Given the description of an element on the screen output the (x, y) to click on. 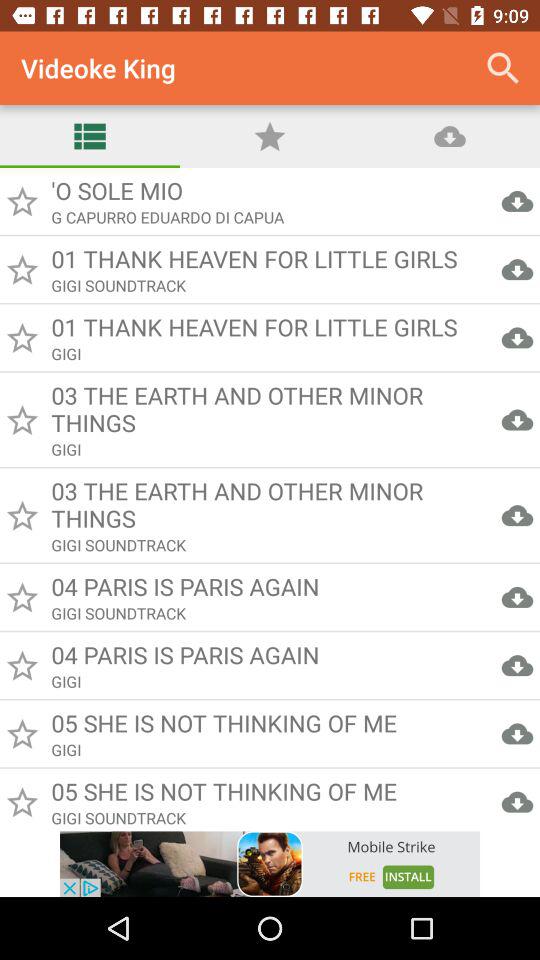
available files to download (270, 499)
